Given the description of an element on the screen output the (x, y) to click on. 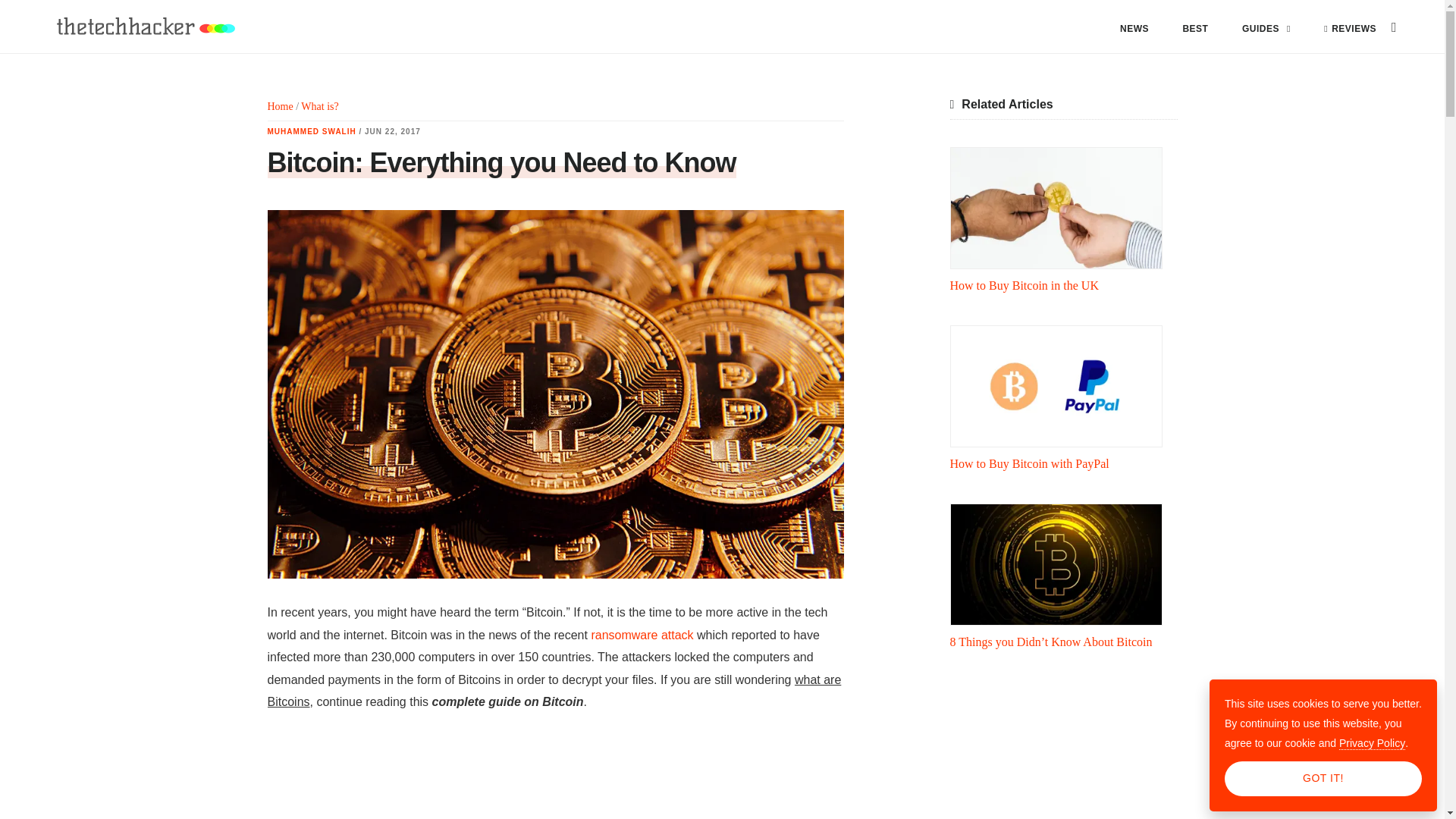
THETECHHACKER (143, 26)
BEST (1194, 28)
Advertisement (554, 777)
How to Buy Bitcoin in the UK (1055, 208)
Home (279, 106)
How to Buy Bitcoin in the UK (1023, 285)
How to Buy Bitcoin with PayPal (1055, 386)
NEWS (1134, 28)
GUIDES (1266, 28)
REVIEWS (1350, 28)
ransomware attack (642, 634)
